Given the description of an element on the screen output the (x, y) to click on. 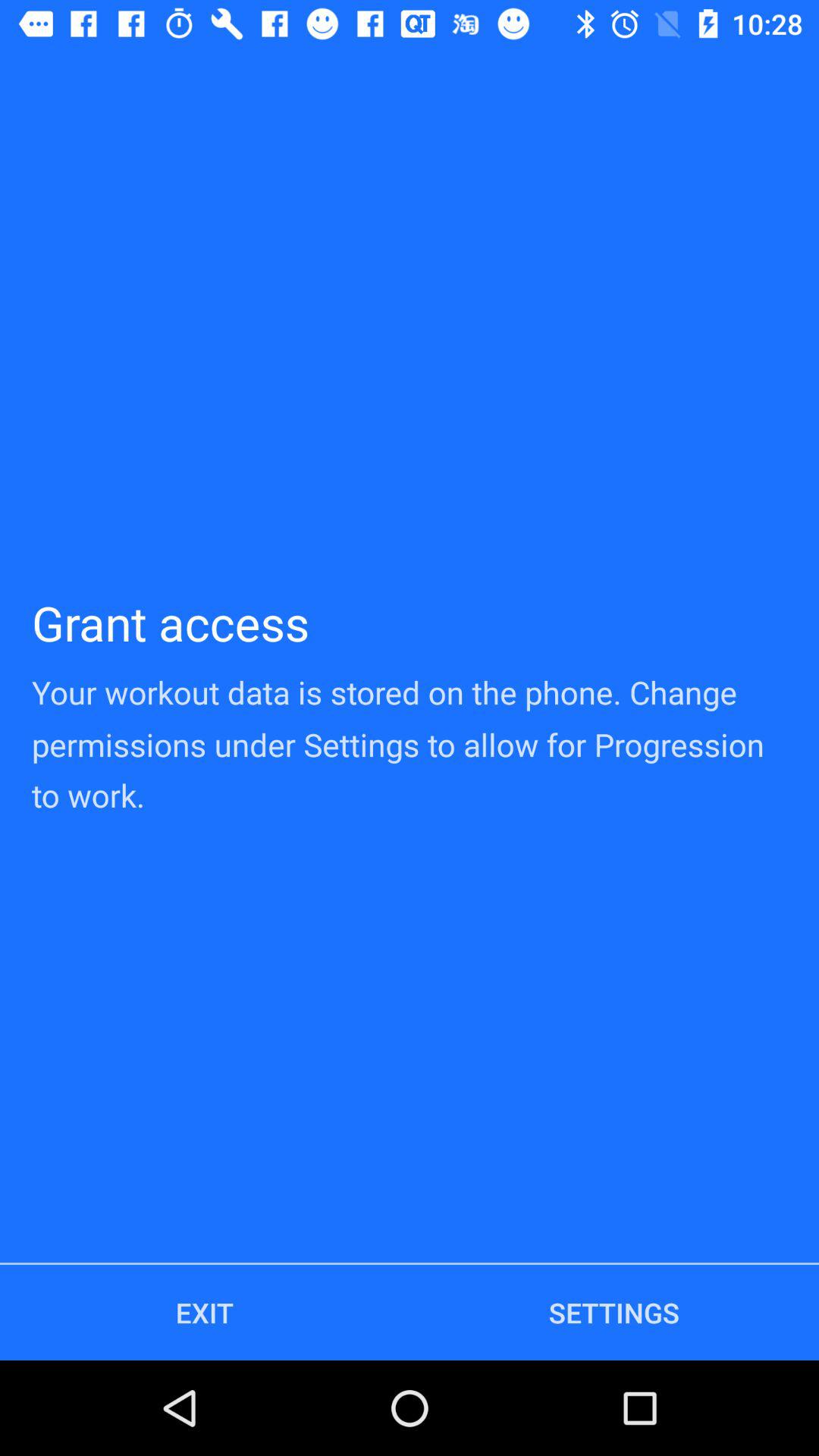
press exit icon (204, 1312)
